Given the description of an element on the screen output the (x, y) to click on. 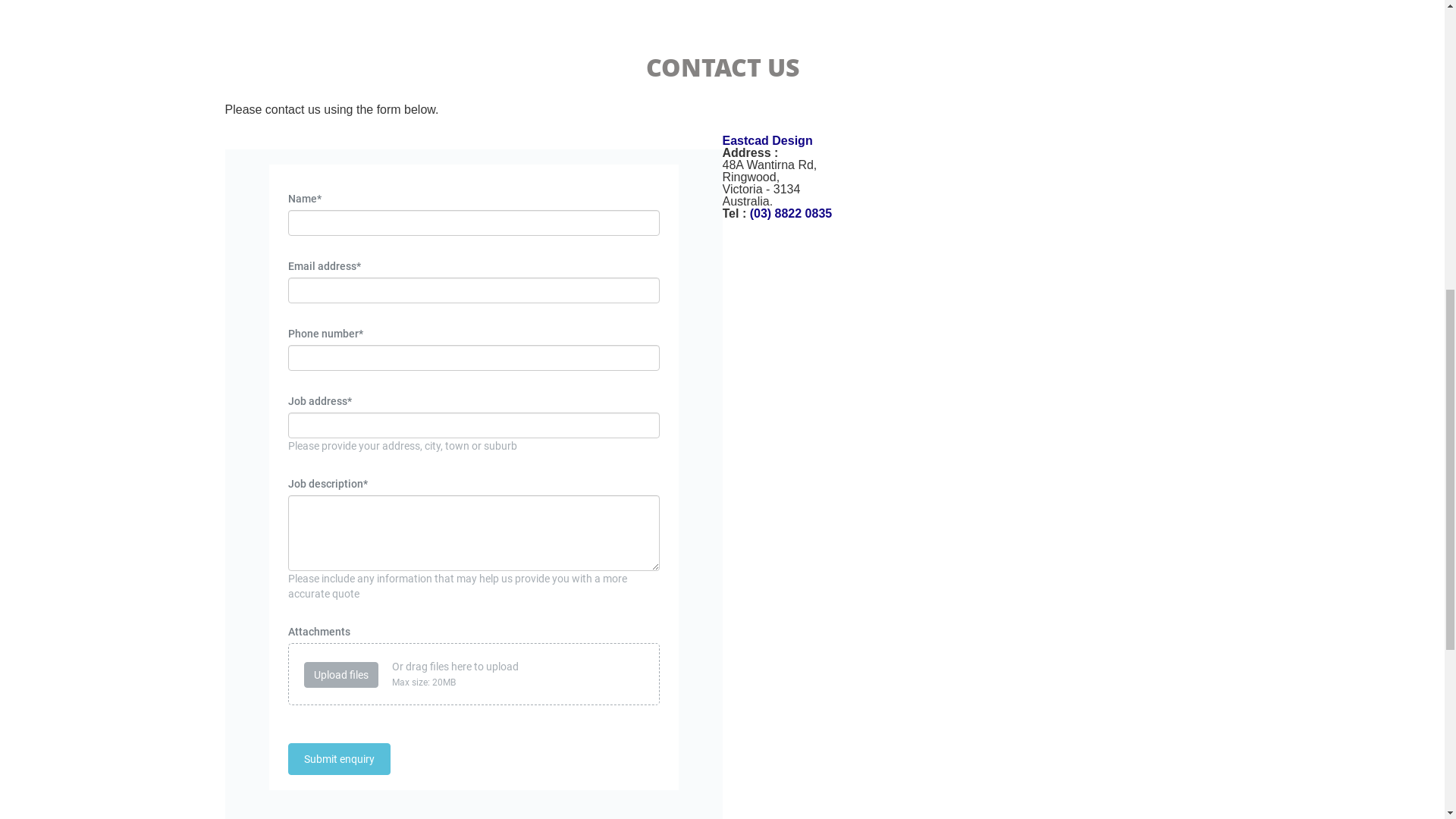
CONTACT US Element type: text (1106, 64)
CALL ME BACK Element type: text (1119, 402)
(03) 8822 0835 Element type: text (1119, 324)
Eastcad Design Element type: text (970, 774)
FREE QUOTE Element type: text (721, 568)
SERVICES Element type: text (850, 64)
HOME Element type: text (632, 64)
DRAFTING AND DESIGN Element type: text (736, 64)
PROCESS Element type: text (923, 64)
OUR PROJECTS Element type: text (1011, 64)
